Given the description of an element on the screen output the (x, y) to click on. 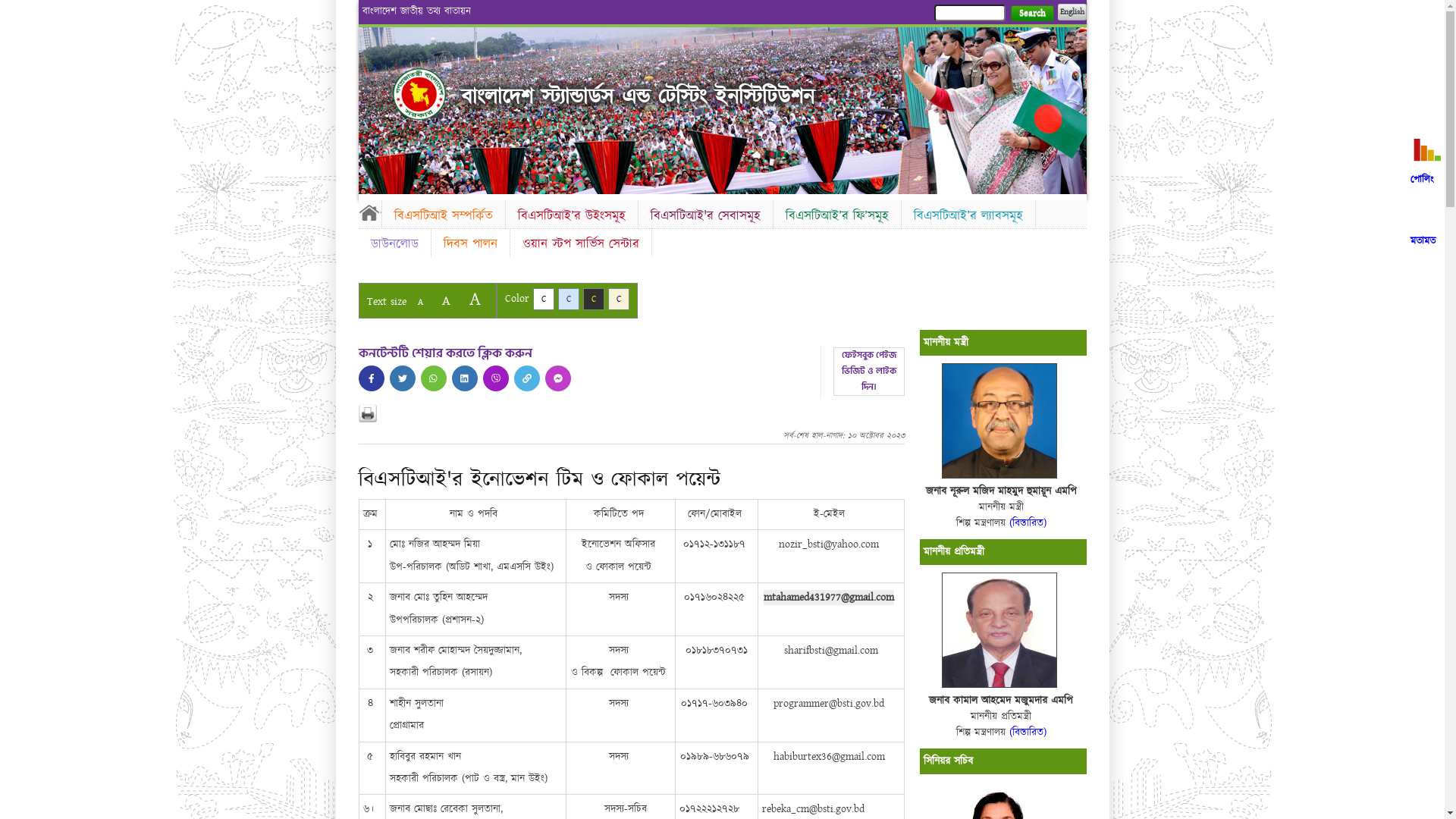
A Element type: text (474, 298)
Home Element type: hover (418, 93)
C Element type: text (542, 299)
A Element type: text (419, 301)
C Element type: text (568, 299)
Search Element type: text (1031, 13)
C Element type: text (592, 299)
A Element type: text (445, 300)
C Element type: text (618, 299)
Home Element type: hover (368, 211)
English Element type: text (1071, 11)
